Given the description of an element on the screen output the (x, y) to click on. 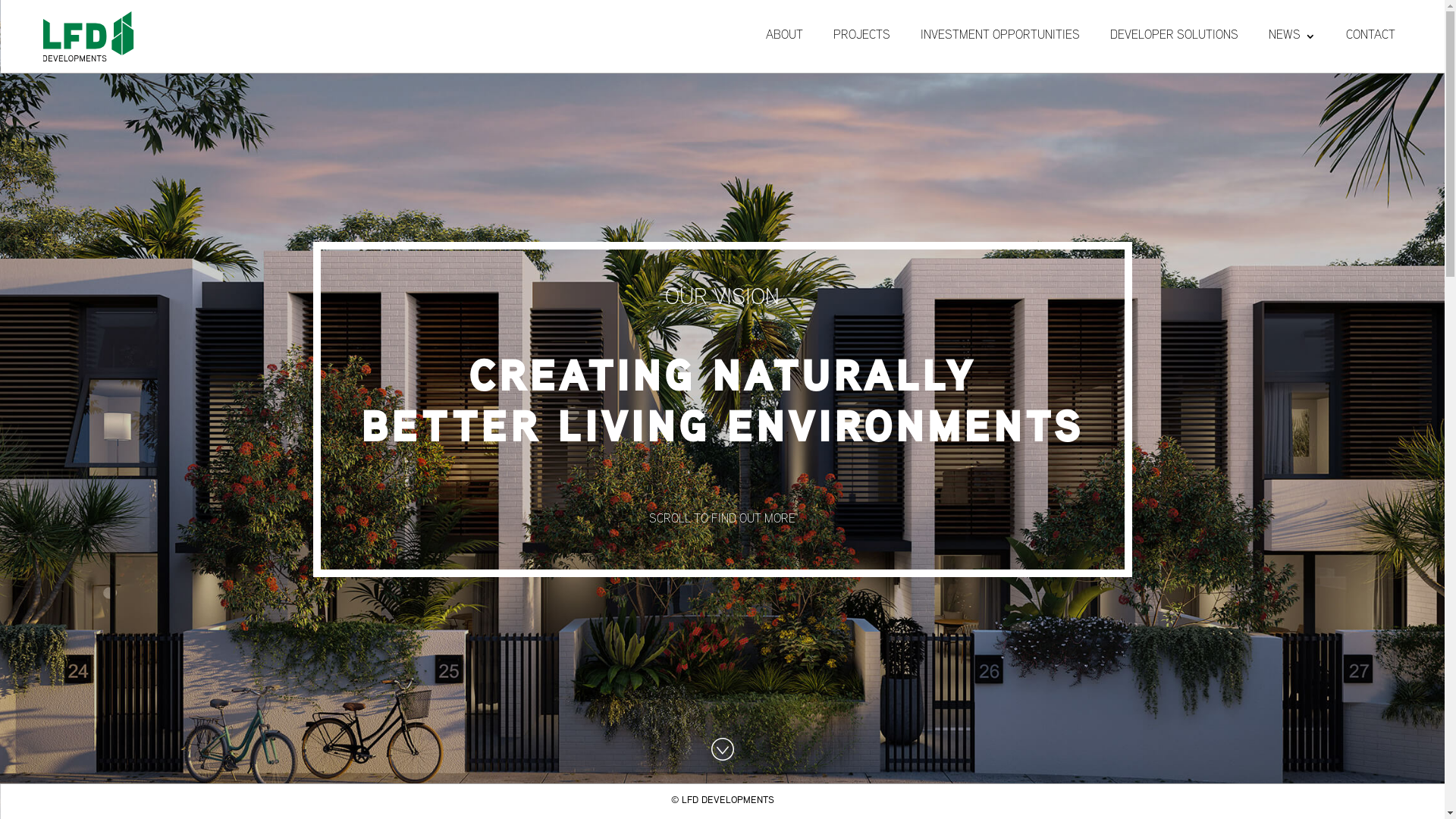
INVESTMENT OPPORTUNITIES Element type: text (999, 36)
SCROLL TO FIND OUT MORE Element type: text (722, 516)
DEVELOPER SOLUTIONS Element type: text (1174, 36)
NEWS Element type: text (1291, 36)
CONTACT Element type: text (1370, 36)
ABOUT Element type: text (784, 36)
PROJECTS Element type: text (861, 36)
